Given the description of an element on the screen output the (x, y) to click on. 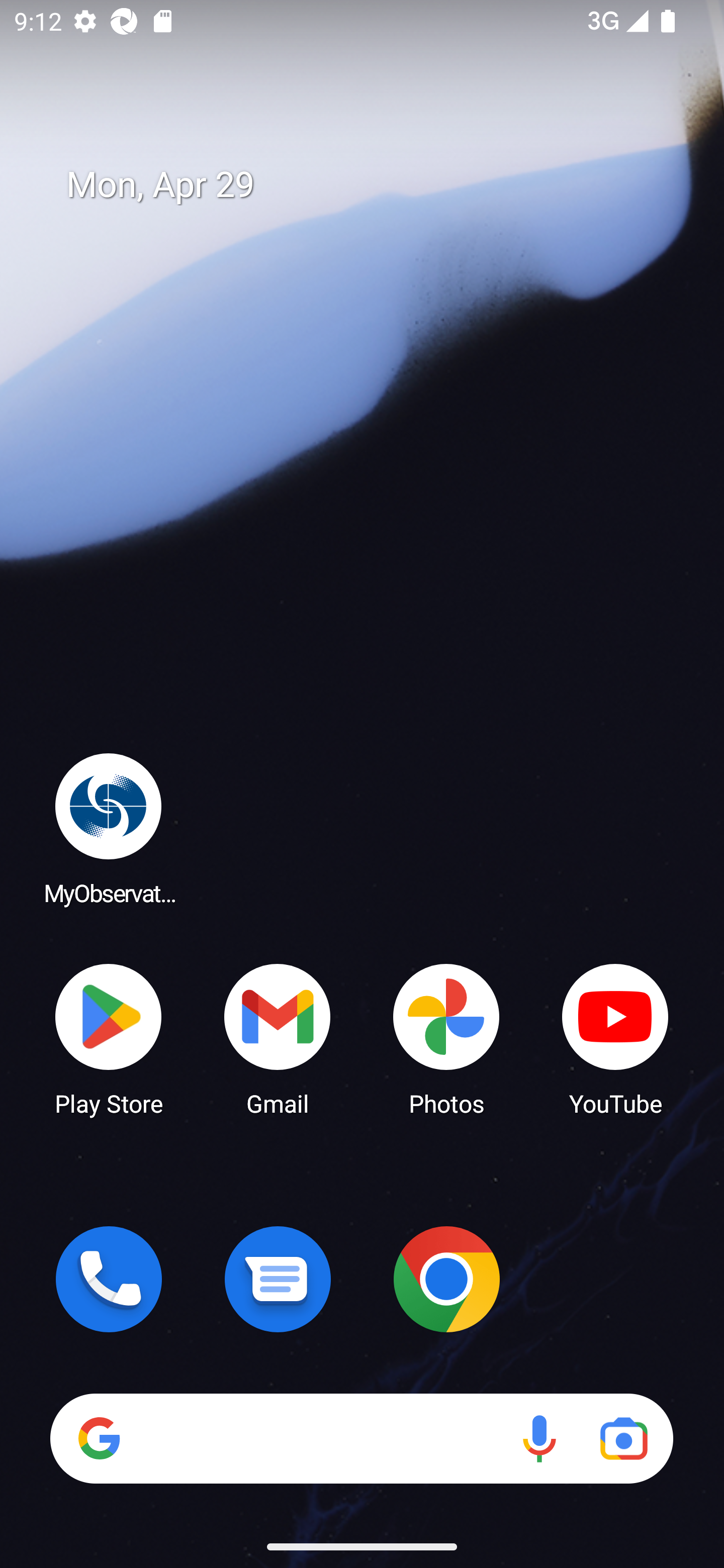
Mon, Apr 29 (375, 184)
MyObservatory (108, 828)
Play Store (108, 1038)
Gmail (277, 1038)
Photos (445, 1038)
YouTube (615, 1038)
Phone (108, 1279)
Messages (277, 1279)
Chrome (446, 1279)
Voice search (539, 1438)
Google Lens (623, 1438)
